Given the description of an element on the screen output the (x, y) to click on. 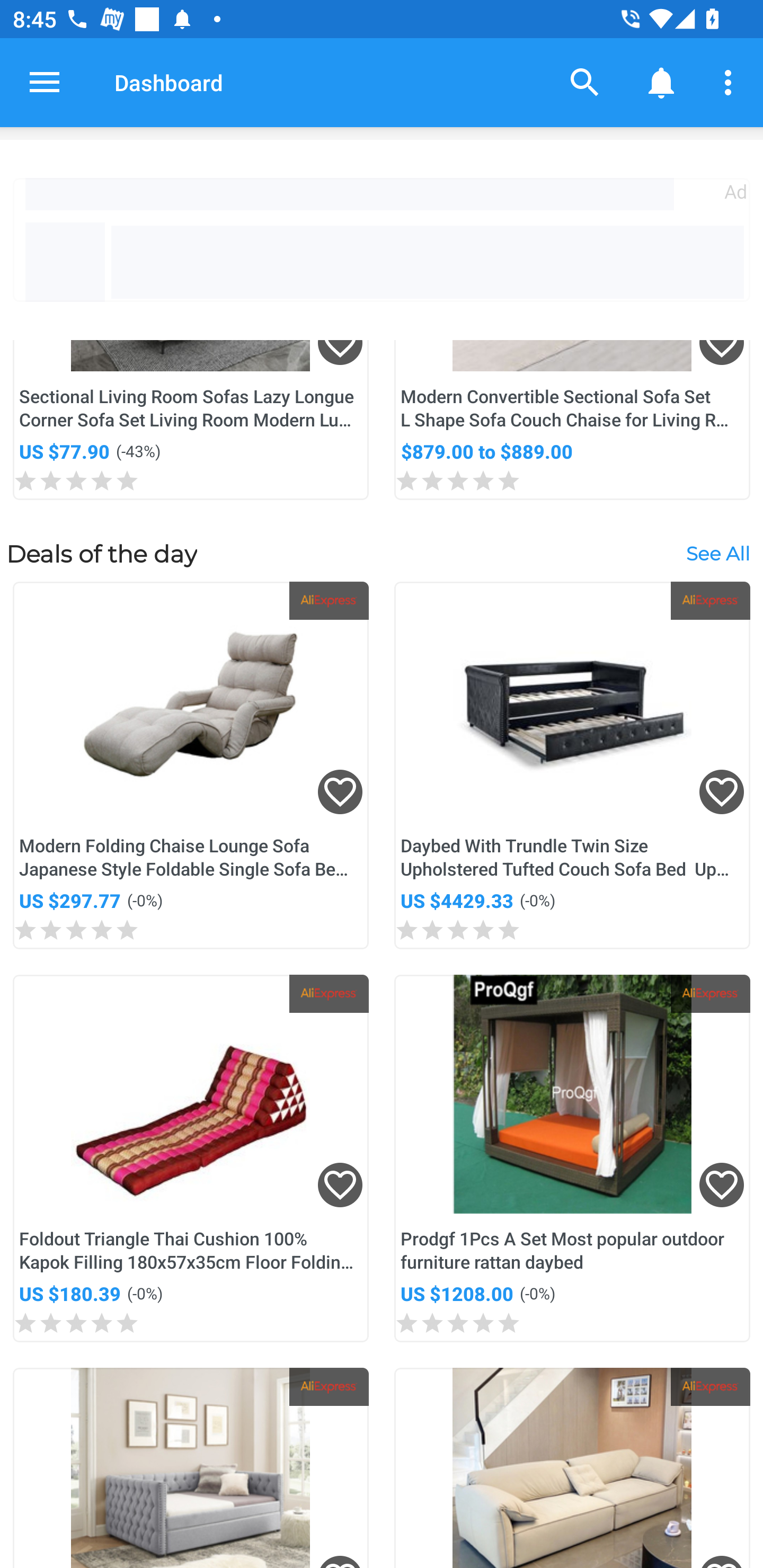
Open navigation drawer (44, 82)
Search (585, 81)
More options (731, 81)
See All (717, 553)
